Given the description of an element on the screen output the (x, y) to click on. 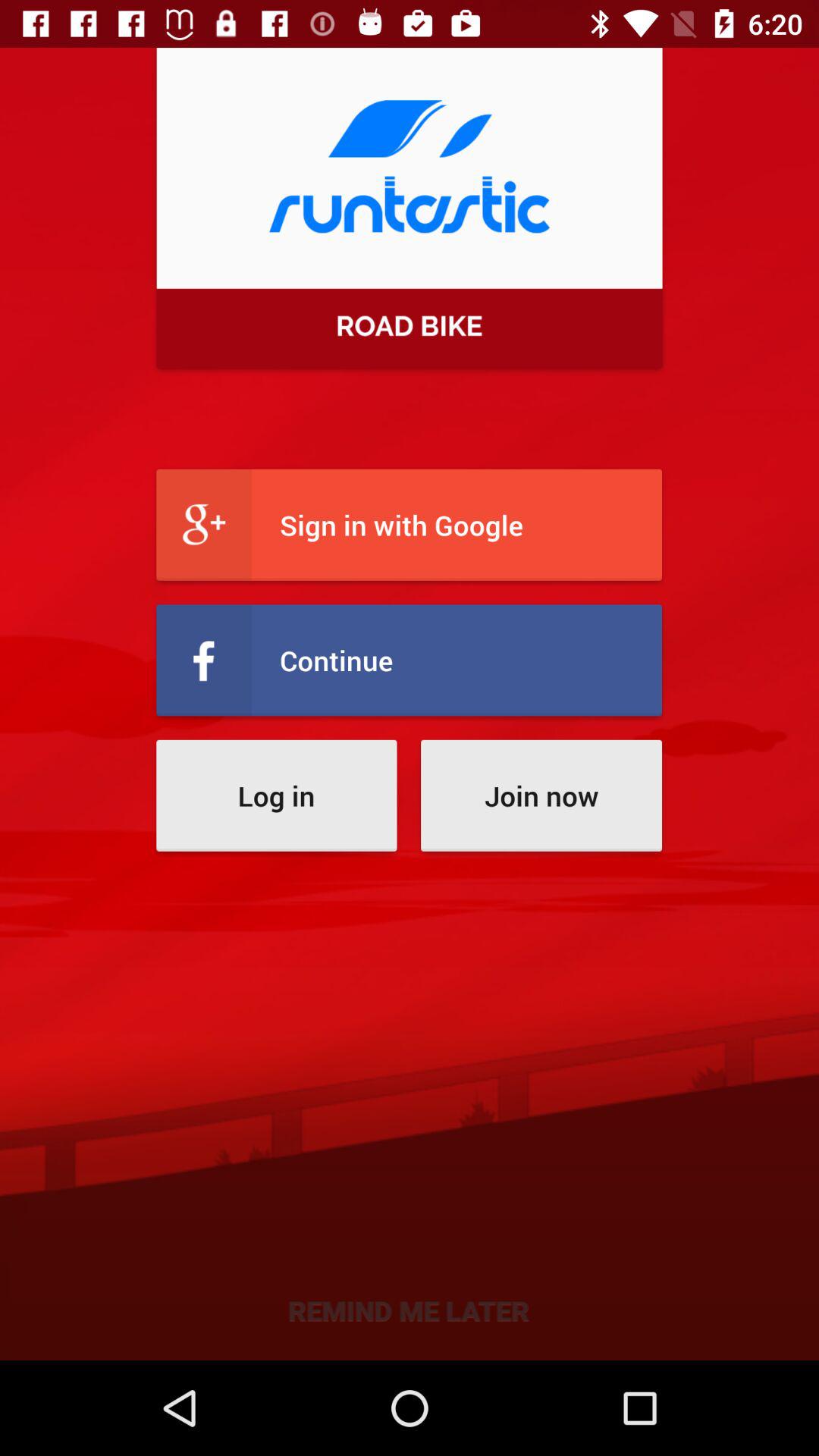
tap item below sign in with icon (409, 660)
